Given the description of an element on the screen output the (x, y) to click on. 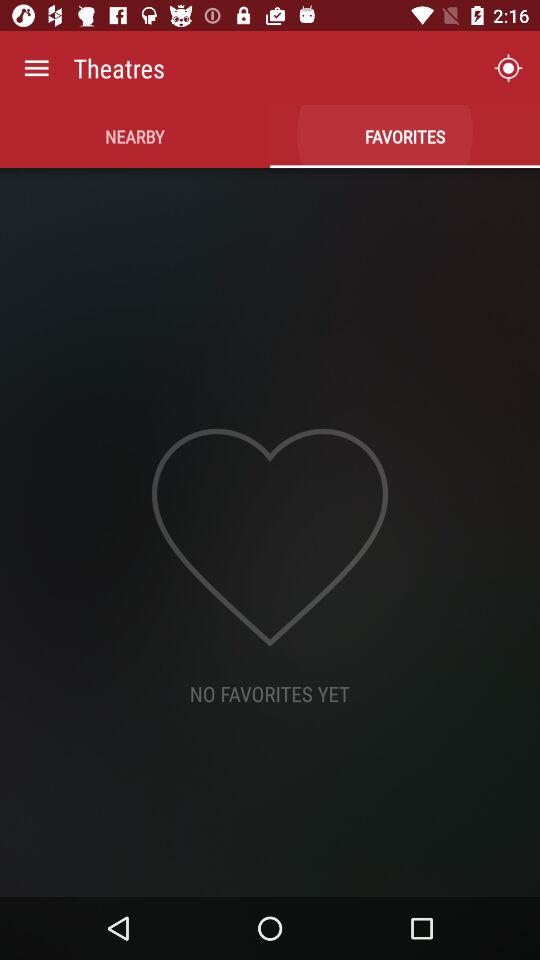
press the icon to the right of theatres icon (508, 67)
